Given the description of an element on the screen output the (x, y) to click on. 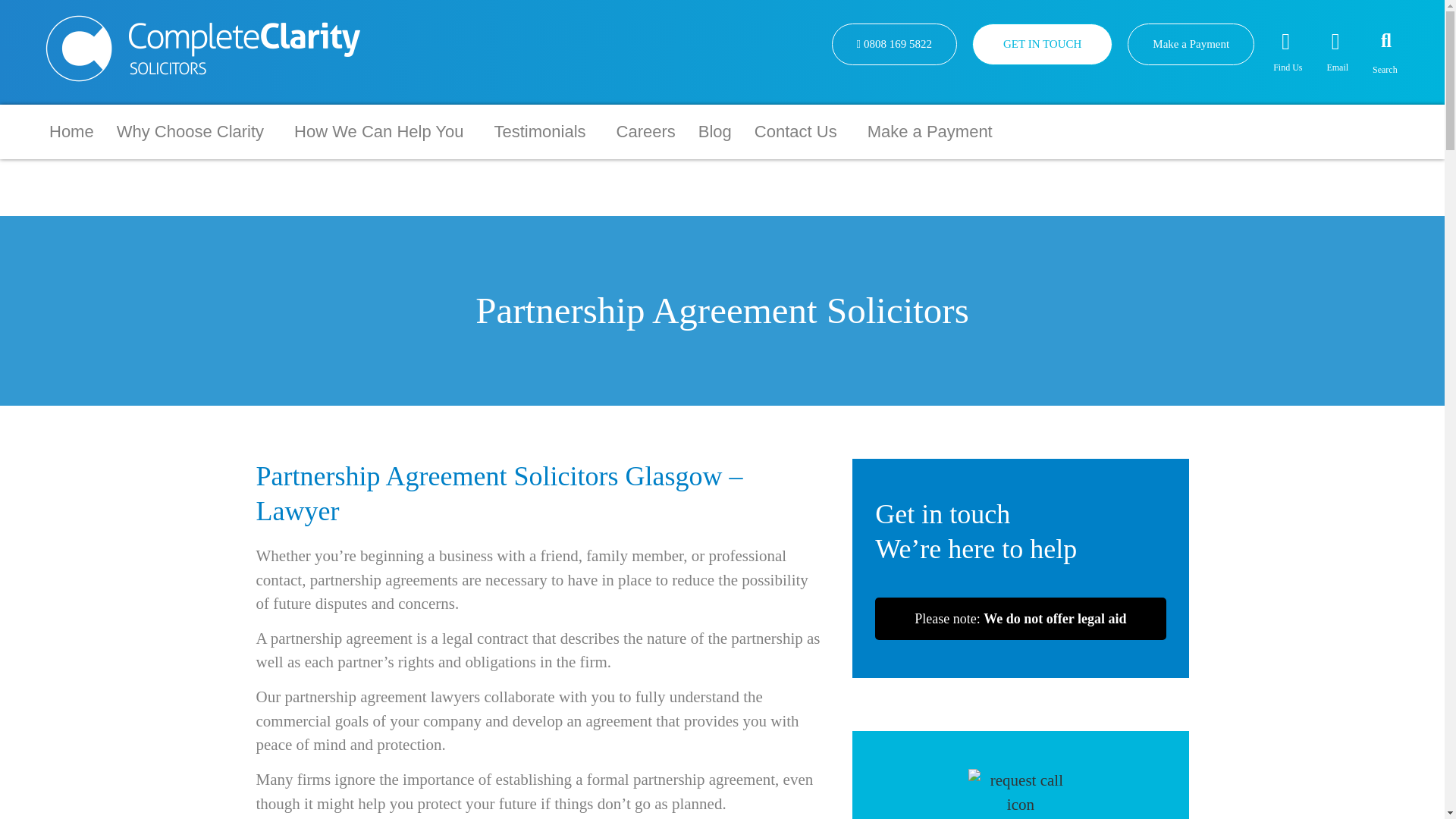
Home (70, 131)
How We Can Help You (381, 131)
Why Choose Clarity (193, 131)
Make a Payment (1189, 43)
GET IN TOUCH (1042, 43)
0808 169 5822 (893, 43)
